Given the description of an element on the screen output the (x, y) to click on. 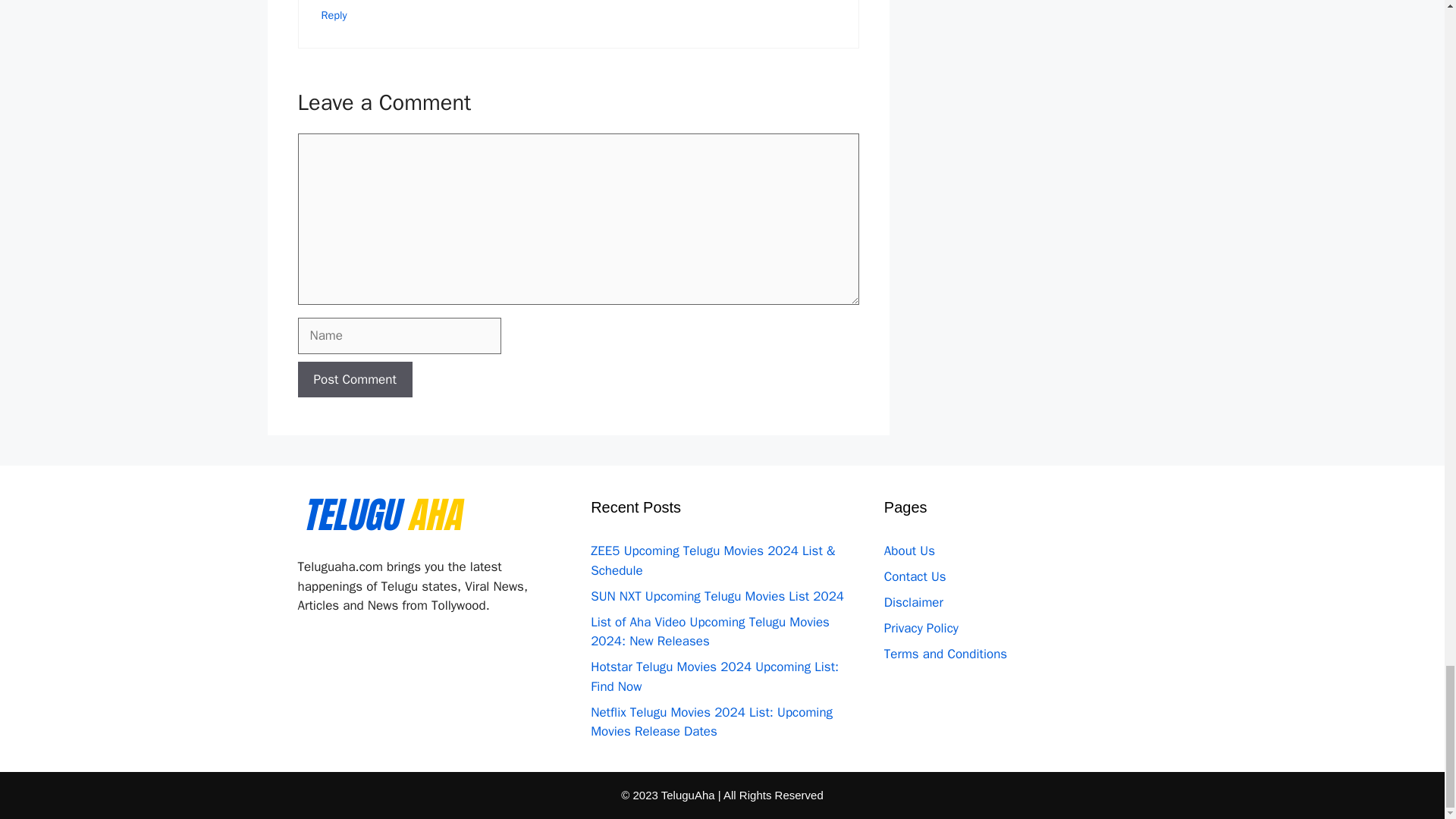
Post Comment (354, 379)
Reply (334, 15)
